Given the description of an element on the screen output the (x, y) to click on. 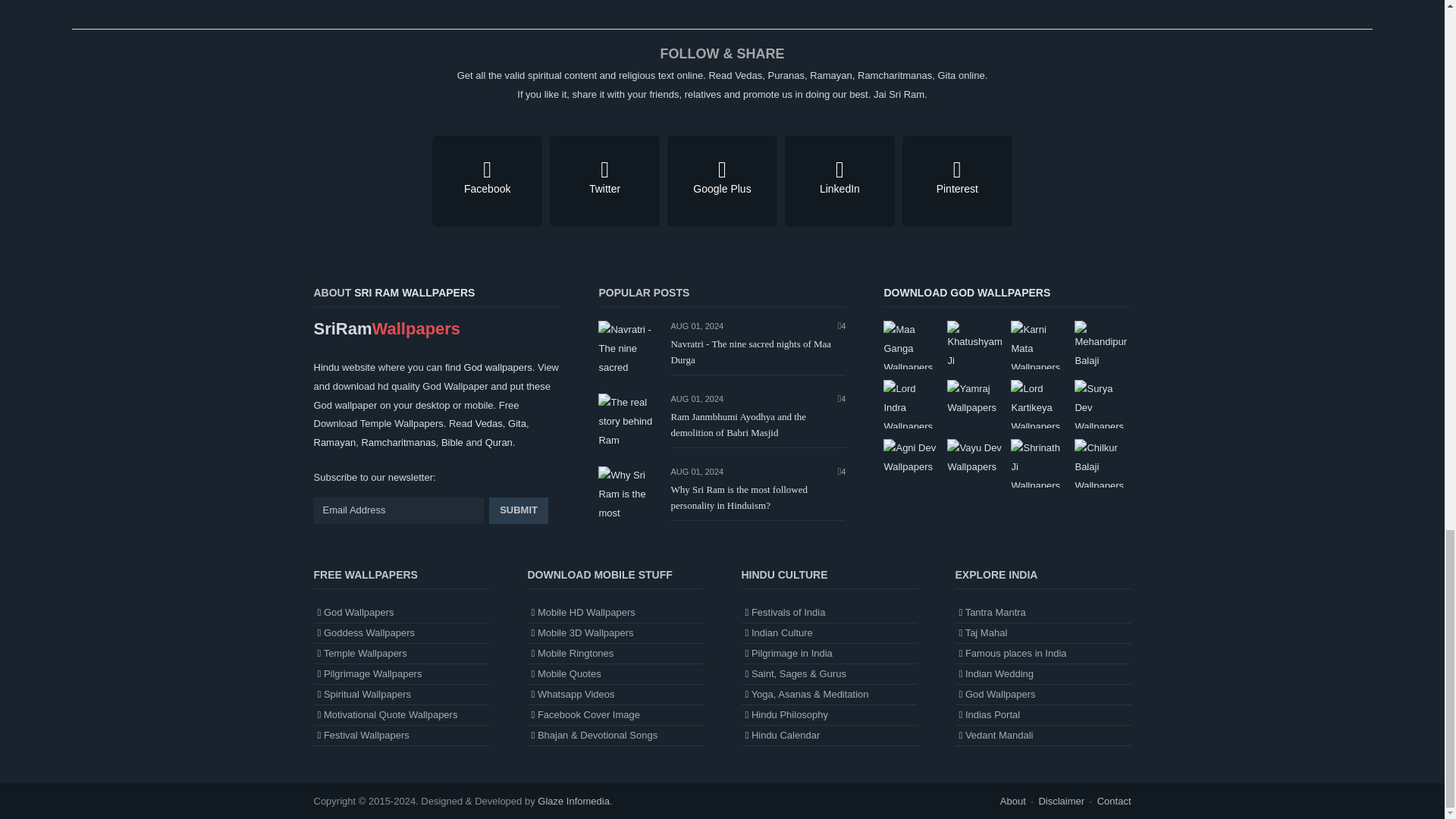
SUBMIT (518, 510)
